Given the description of an element on the screen output the (x, y) to click on. 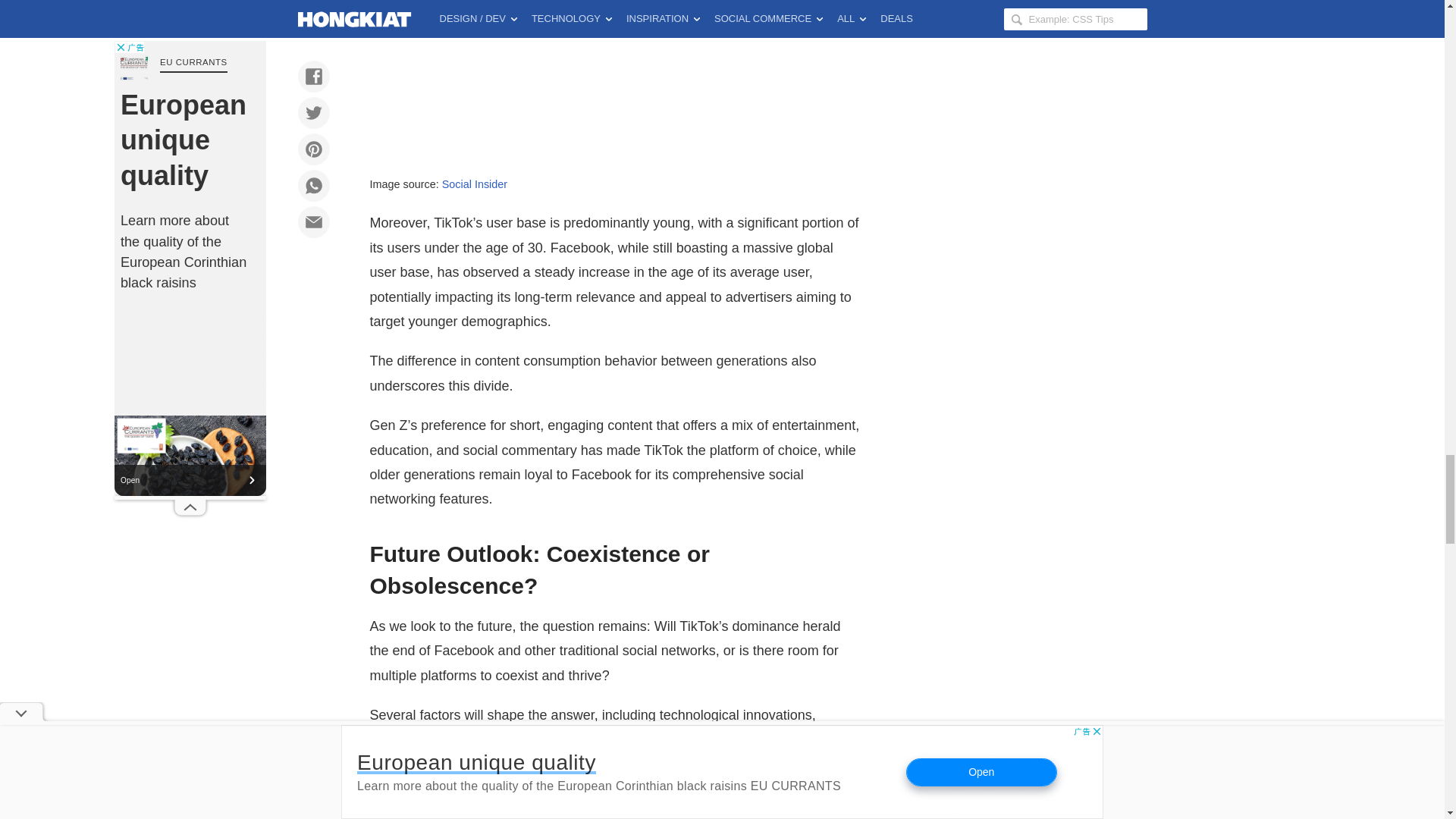
Social Insider (474, 184)
